Given the description of an element on the screen output the (x, y) to click on. 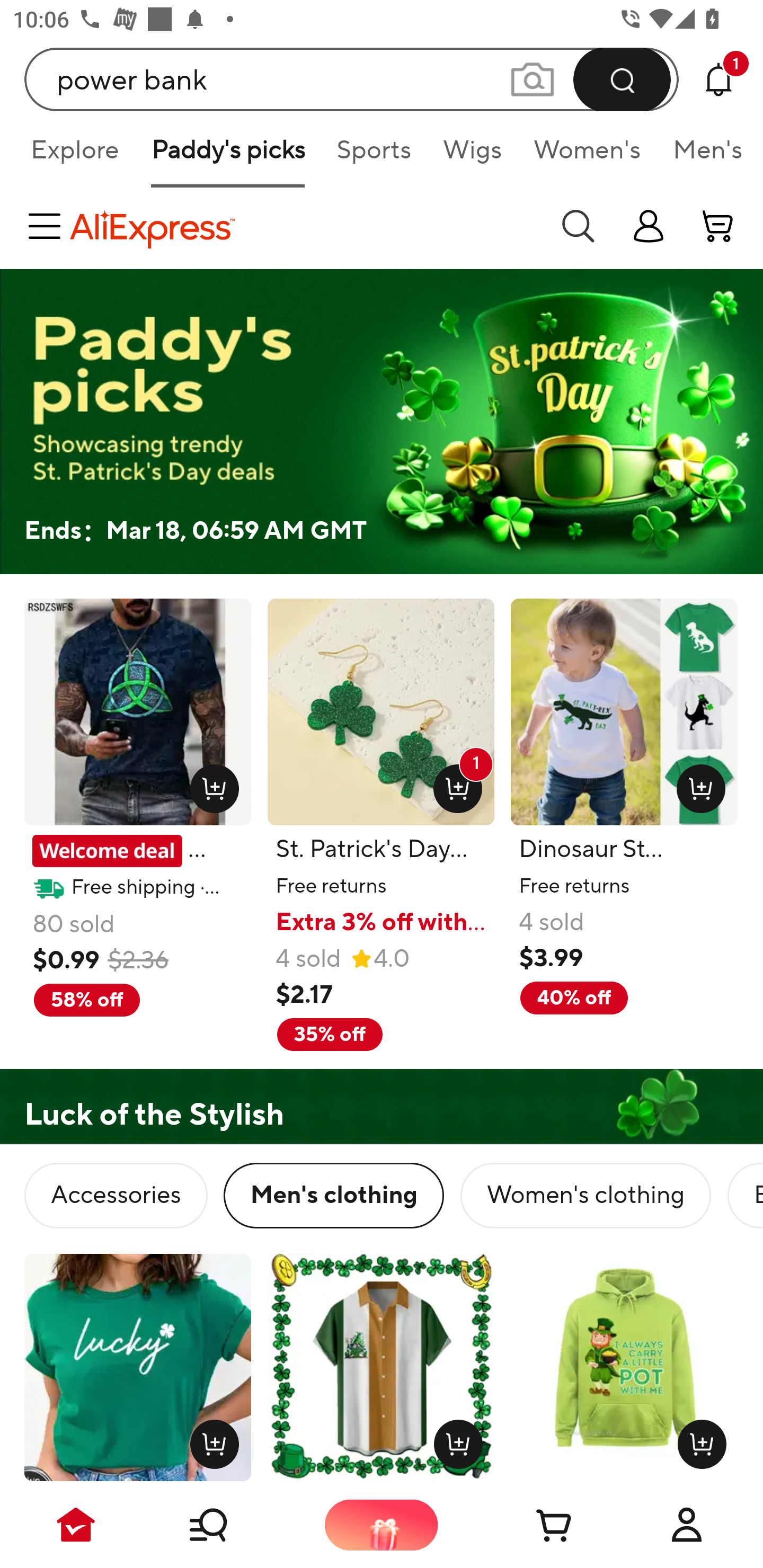
power bank (351, 79)
Explore (74, 155)
Sports (373, 155)
Wigs (472, 155)
Women's (586, 155)
Men's (701, 155)
aliexpress (305, 225)
category (47, 225)
shop (648, 225)
account (718, 225)
128x128.png_ (210, 784)
1 128x128.png_ (453, 784)
128x128.png_ (695, 784)
Accessories (115, 1195)
Men's clothing (333, 1195)
Women's clothing (585, 1195)
128x128.png_ (210, 1439)
128x128.png_ (454, 1439)
128x128.png_ (697, 1439)
Shop (228, 1524)
Cart (533, 1524)
Account (686, 1524)
